Given the description of an element on the screen output the (x, y) to click on. 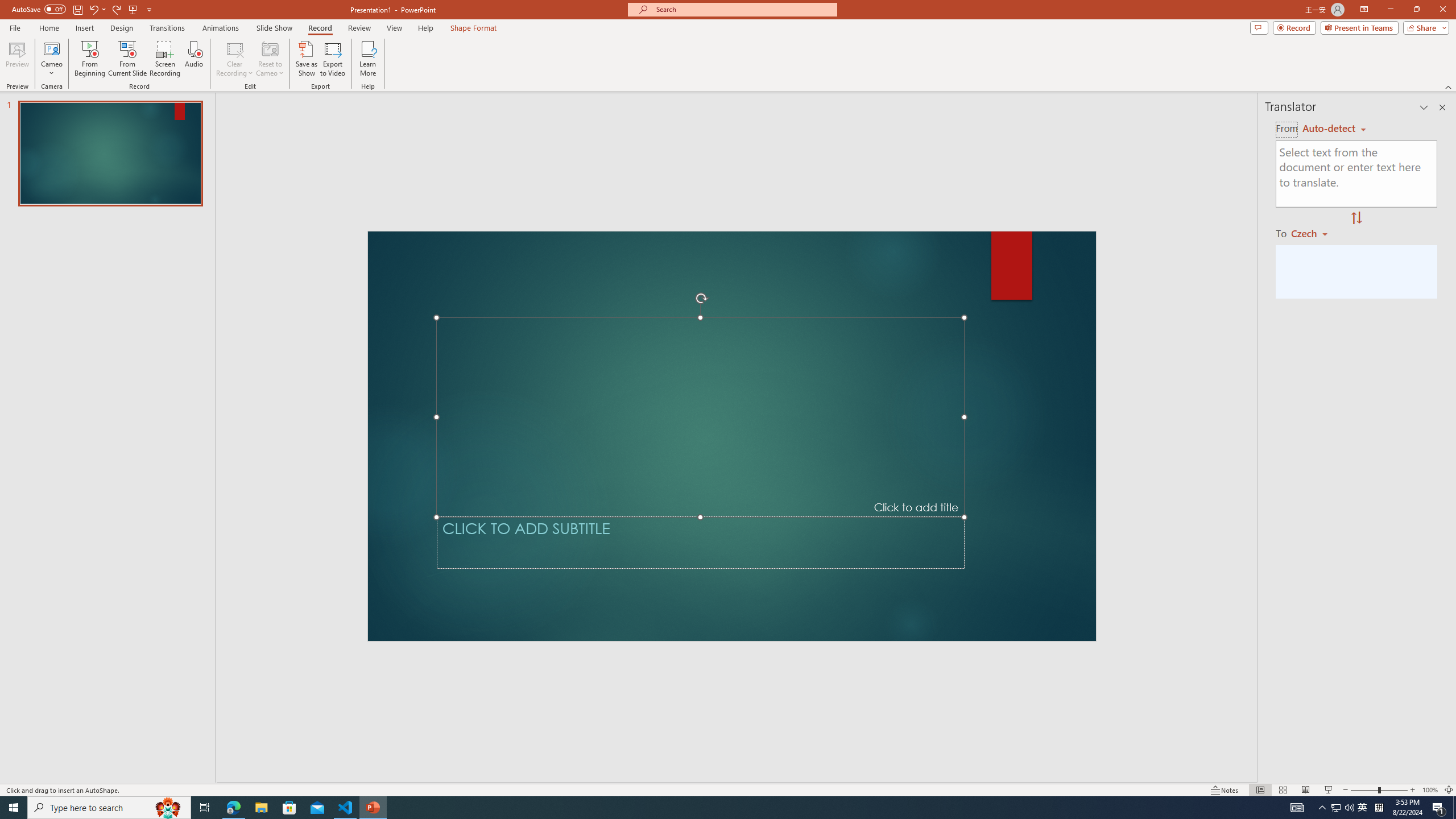
Microsoft search (742, 9)
Zoom 100% (1430, 790)
Class: MsoCommandBar (728, 789)
Czech (1313, 232)
Cameo (51, 48)
Task Pane Options (1423, 107)
Reset to Cameo (269, 58)
Save as Show (306, 58)
